Given the description of an element on the screen output the (x, y) to click on. 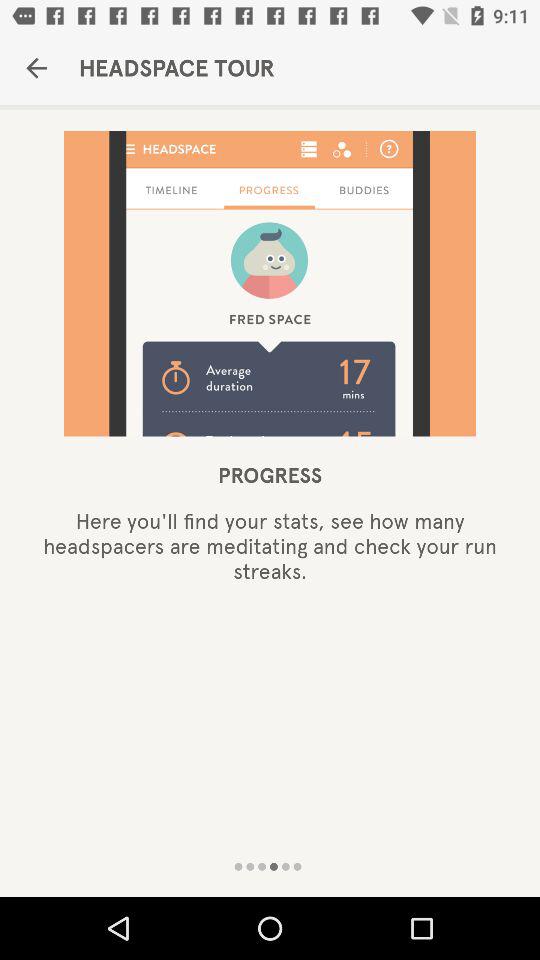
open the icon to the left of headspace tour item (36, 68)
